Given the description of an element on the screen output the (x, y) to click on. 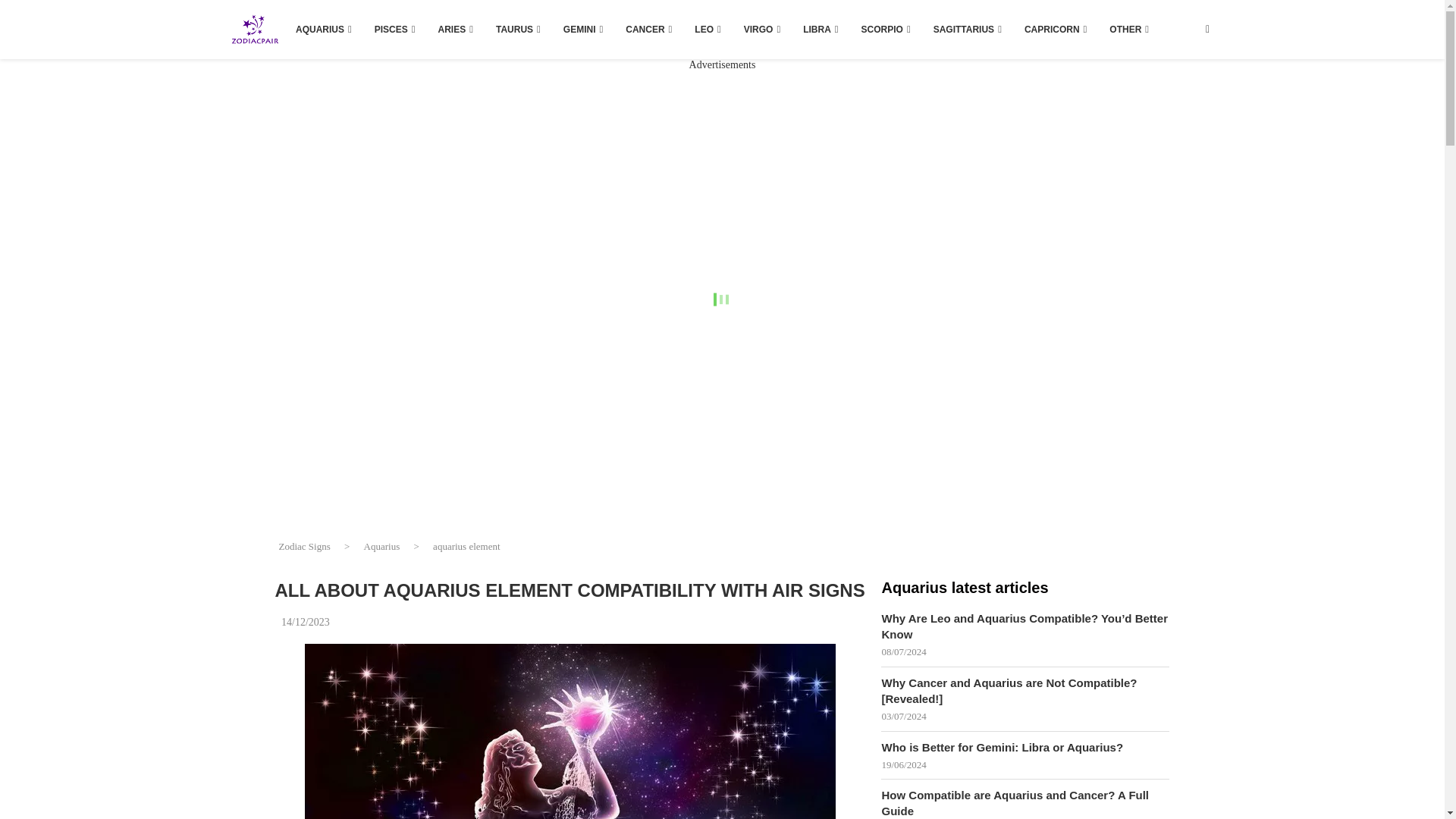
aquarius002 (569, 731)
